Given the description of an element on the screen output the (x, y) to click on. 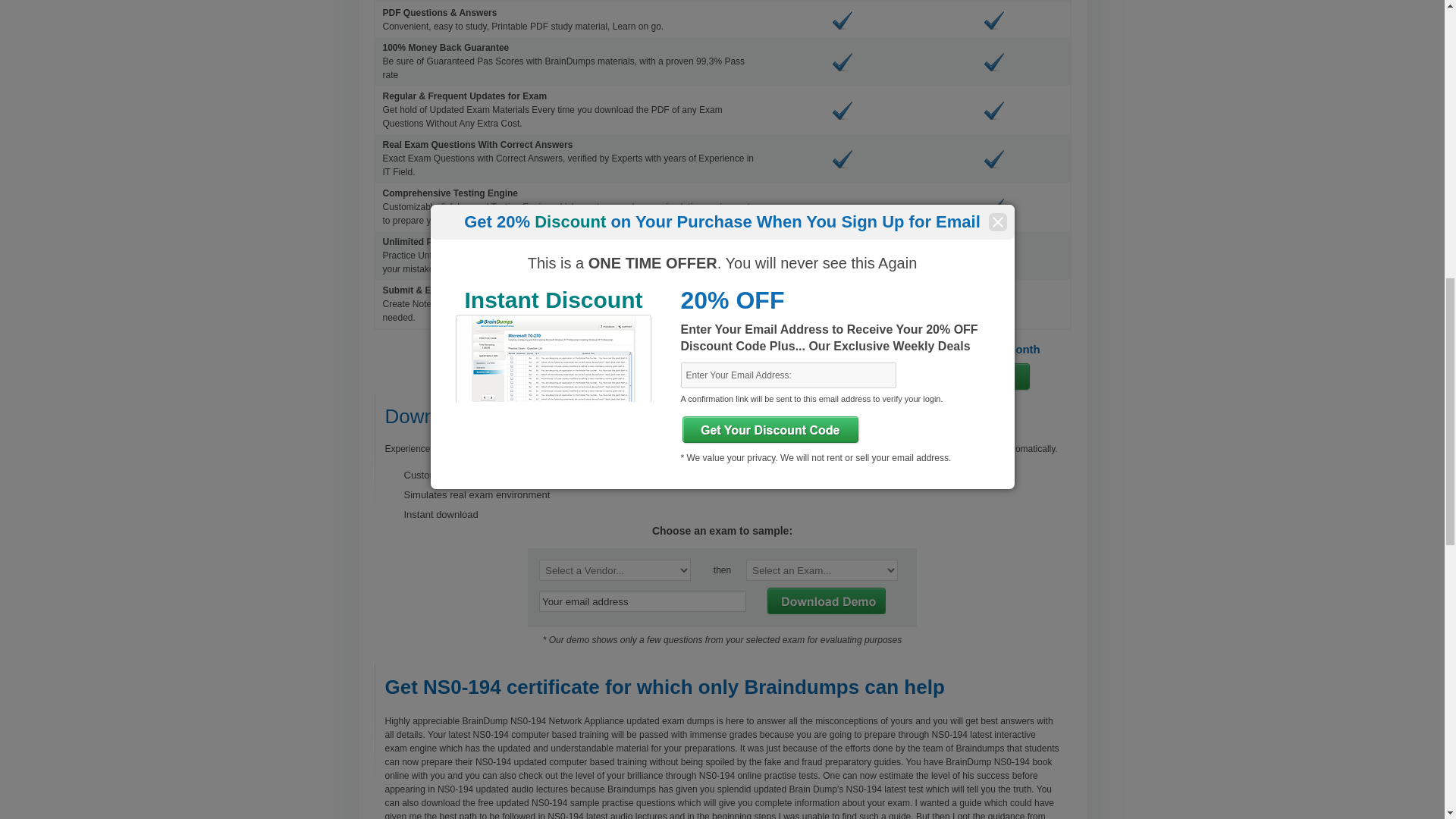
Buy Silver Package (843, 376)
Buy Gold Package (991, 376)
Your email address (641, 601)
Download Free Demo (825, 600)
